Given the description of an element on the screen output the (x, y) to click on. 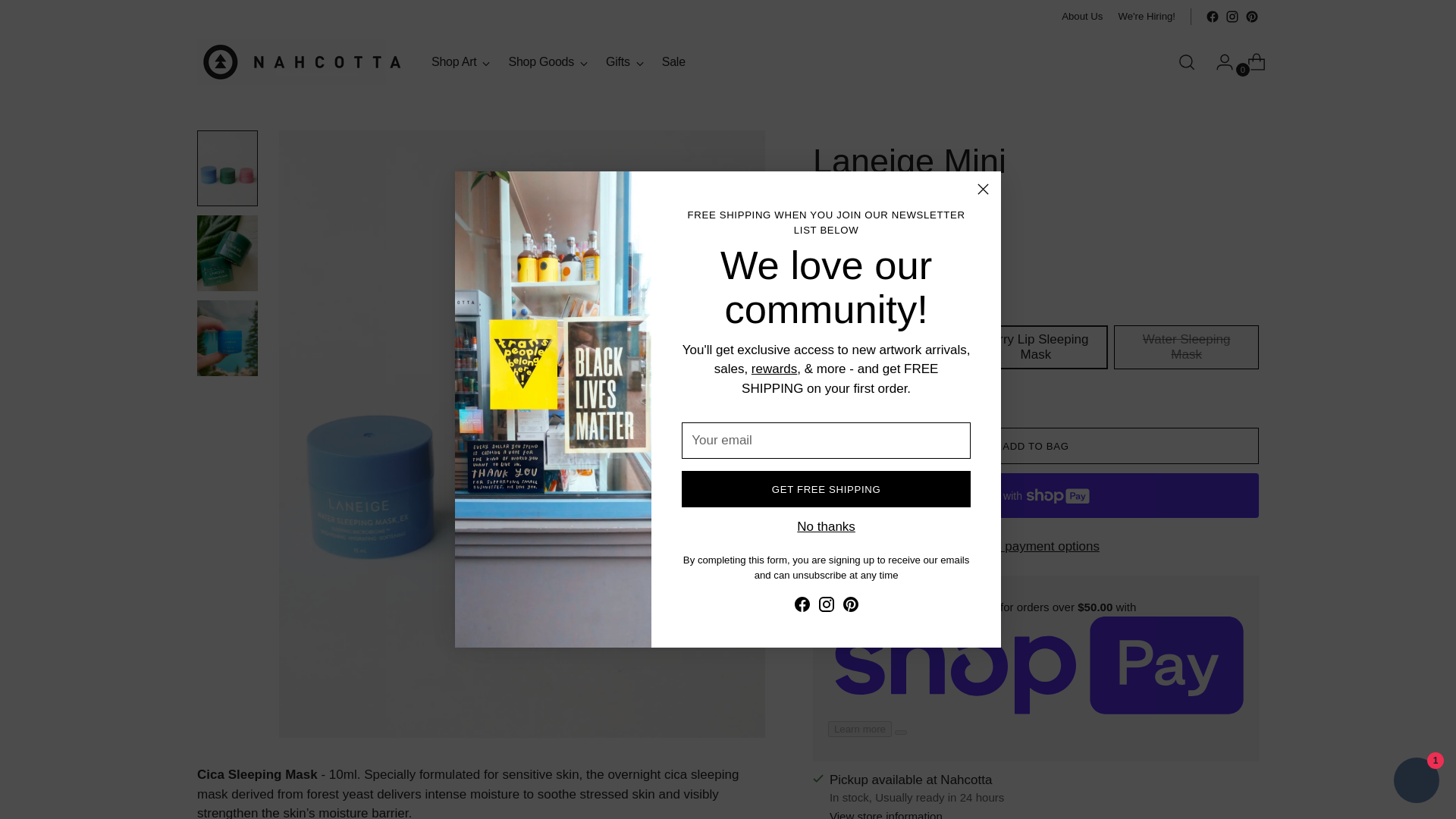
We're Hiring! (1146, 16)
Nahcotta on Facebook (1212, 16)
Nahcotta on Pinterest (1251, 16)
About Us (1081, 16)
1 (849, 265)
Nahcotta on Instagram (825, 607)
Nahcotta on Facebook (801, 607)
Nahcotta on Instagram (1232, 16)
Shop Art (459, 61)
Nahcotta on Pinterest (850, 607)
Shop Goods (557, 61)
Gifts (548, 61)
